Given the description of an element on the screen output the (x, y) to click on. 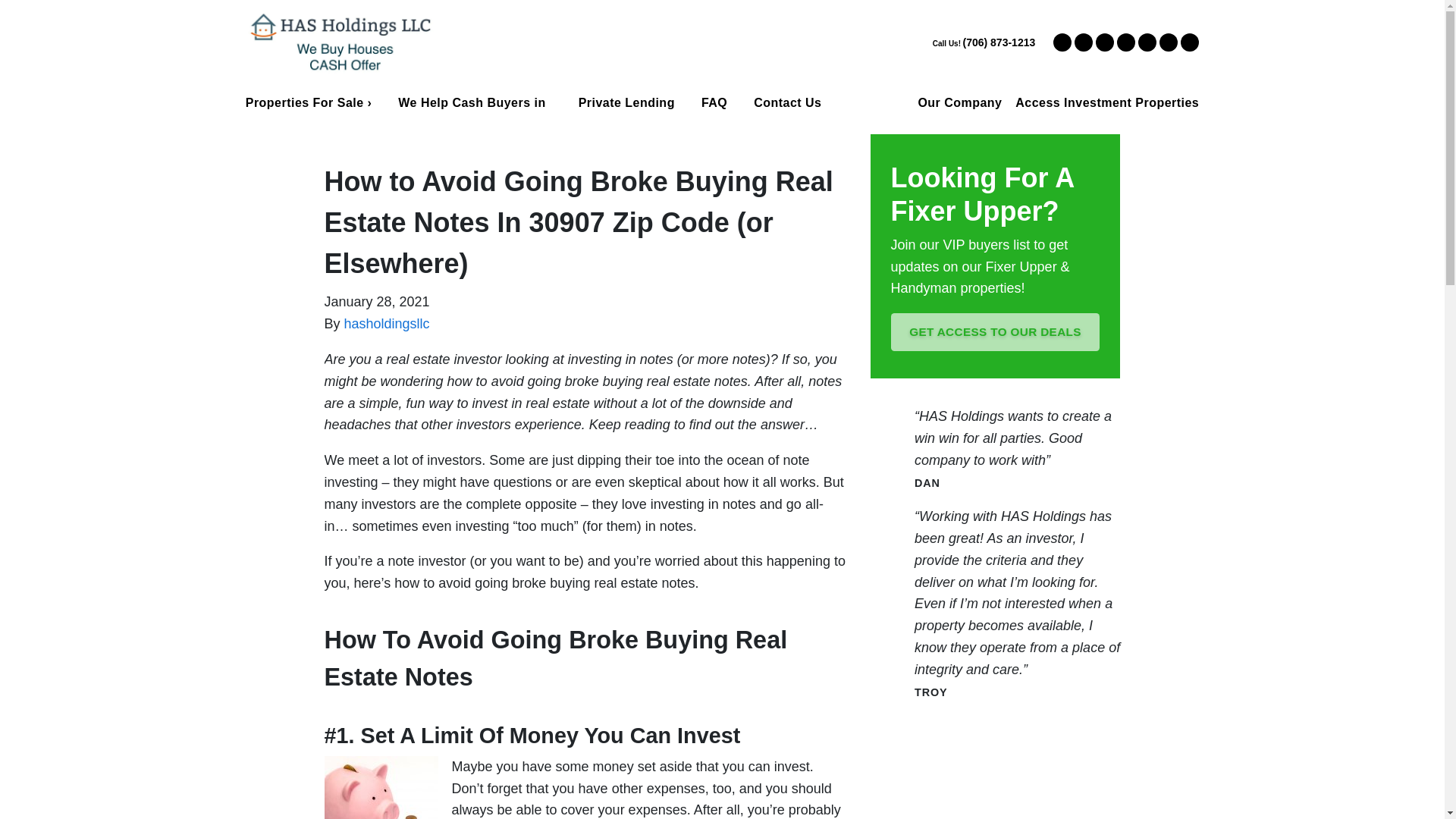
Instagram (1147, 42)
FAQ (713, 102)
Access Investment Properties (1106, 102)
Zillow (1189, 42)
Pinterest (1167, 42)
Private Lending (625, 102)
Twitter (1061, 42)
Contact Us (787, 102)
YouTube (1104, 42)
Open Submenu (556, 102)
